Given the description of an element on the screen output the (x, y) to click on. 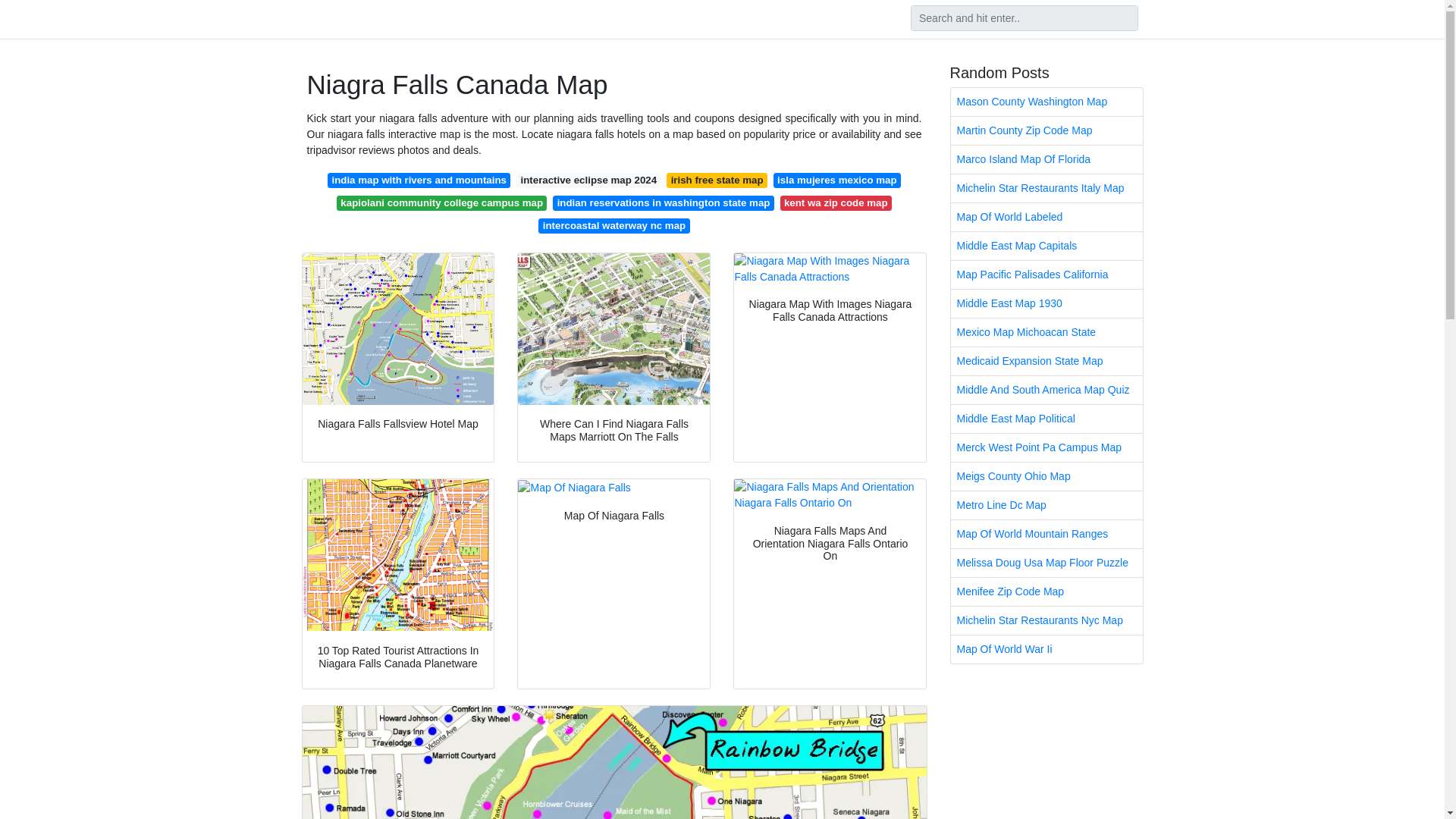
Map Of World Labeled (1046, 216)
intercoastal waterway nc map (613, 225)
kent wa zip code map (835, 202)
Marco Island Map Of Florida (1046, 159)
india map with rivers and mountains (419, 180)
Martin County Zip Code Map (1046, 130)
Mason County Washington Map (1046, 101)
Middle East Map 1930 (1046, 303)
isla mujeres mexico map (837, 180)
interactive eclipse map 2024 (588, 180)
